Given the description of an element on the screen output the (x, y) to click on. 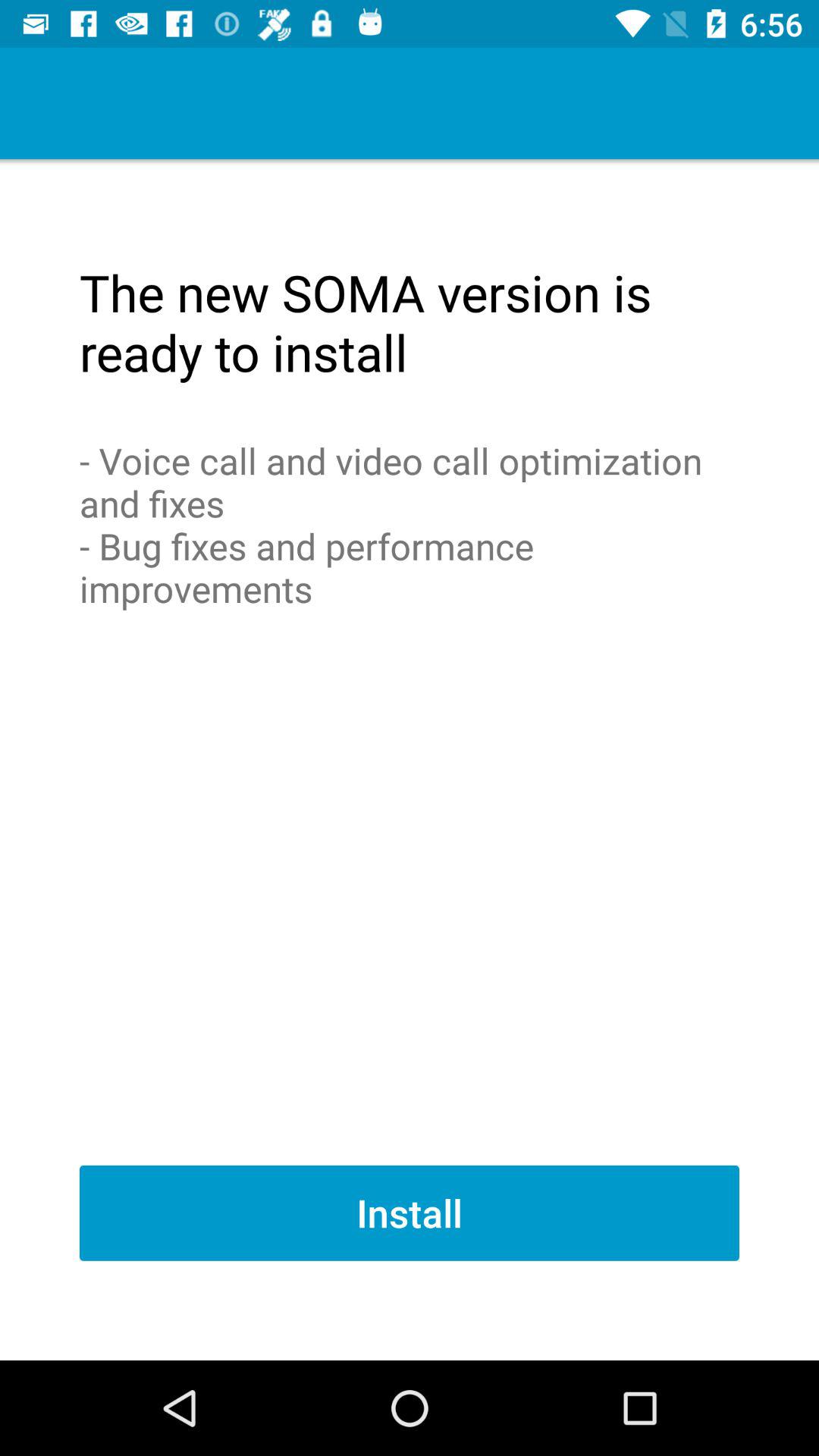
turn off voice call and item (409, 524)
